Given the description of an element on the screen output the (x, y) to click on. 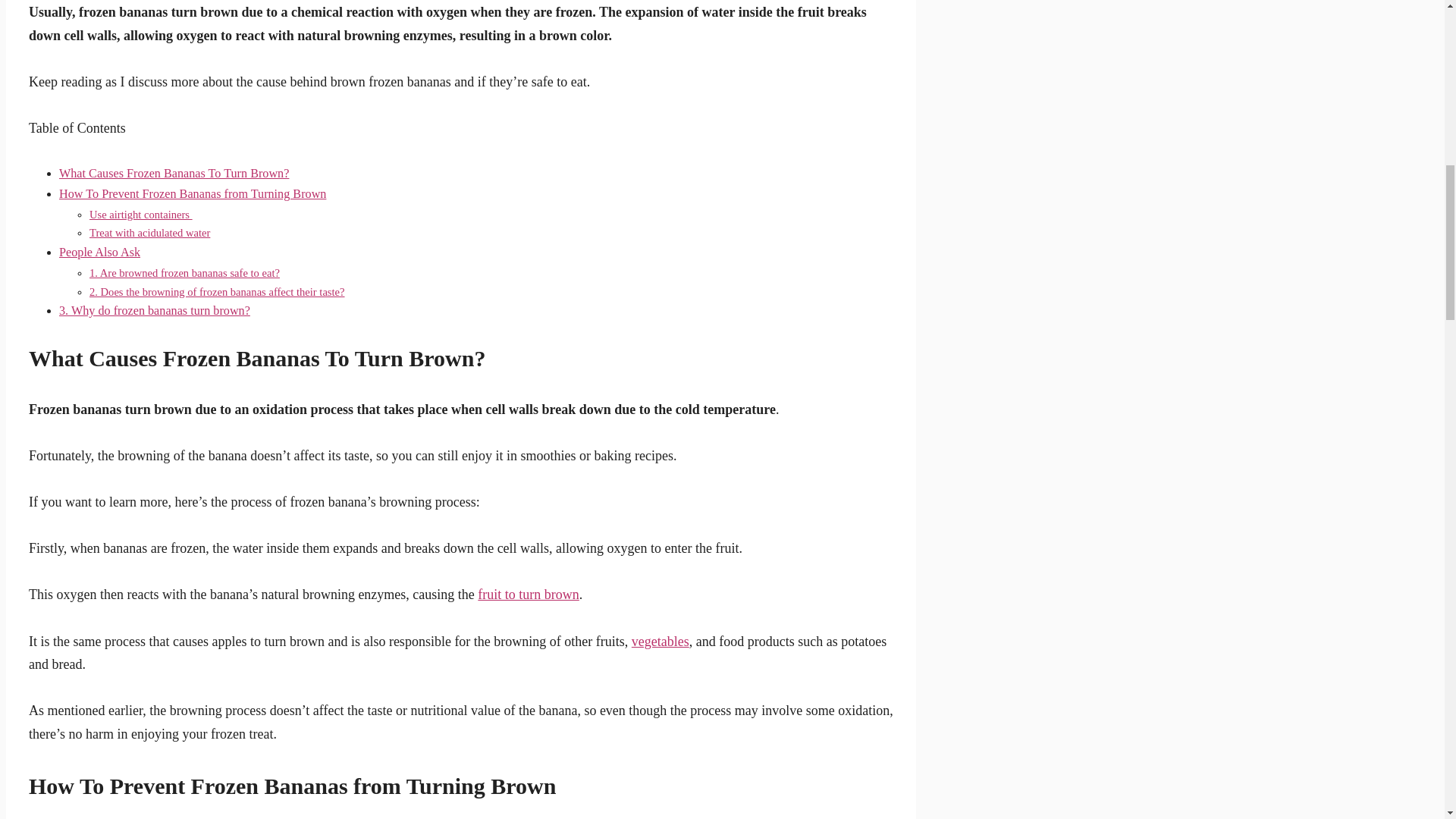
How To Prevent Frozen Bananas from Turning Brown (192, 193)
Treat with acidulated water (148, 232)
fruit to turn brown (527, 594)
2. Does the browning of frozen bananas affect their taste? (216, 291)
3. Why do frozen bananas turn brown? (154, 310)
1. Are browned frozen bananas safe to eat? (183, 272)
vegetables (659, 641)
People Also Ask (99, 252)
Use airtight containers  (140, 214)
What Causes Frozen Bananas To Turn Brown? (173, 173)
